Given the description of an element on the screen output the (x, y) to click on. 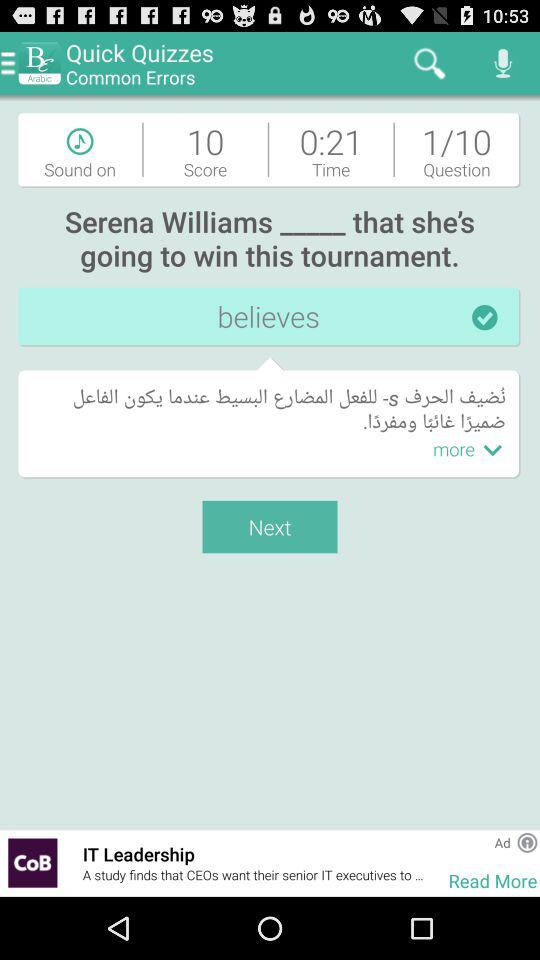
advertisement (527, 842)
